Given the description of an element on the screen output the (x, y) to click on. 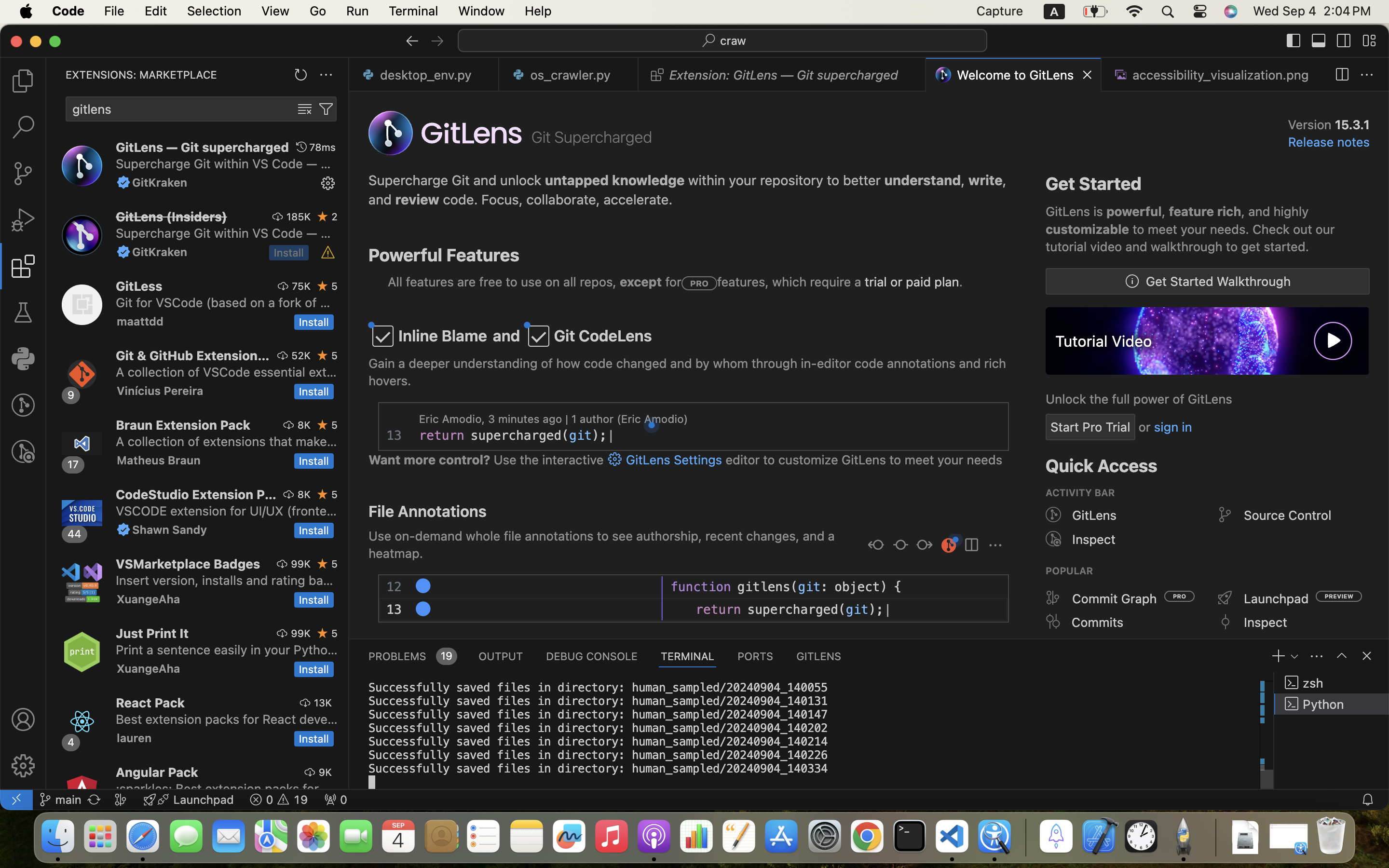
 Element type: AXStaticText (123, 181)
and Element type: AXStaticText (506, 335)
 Element type: AXStaticText (1053, 514)
 Element type: AXButton (304, 108)
 Element type: AXButton (1366, 655)
